Given the description of an element on the screen output the (x, y) to click on. 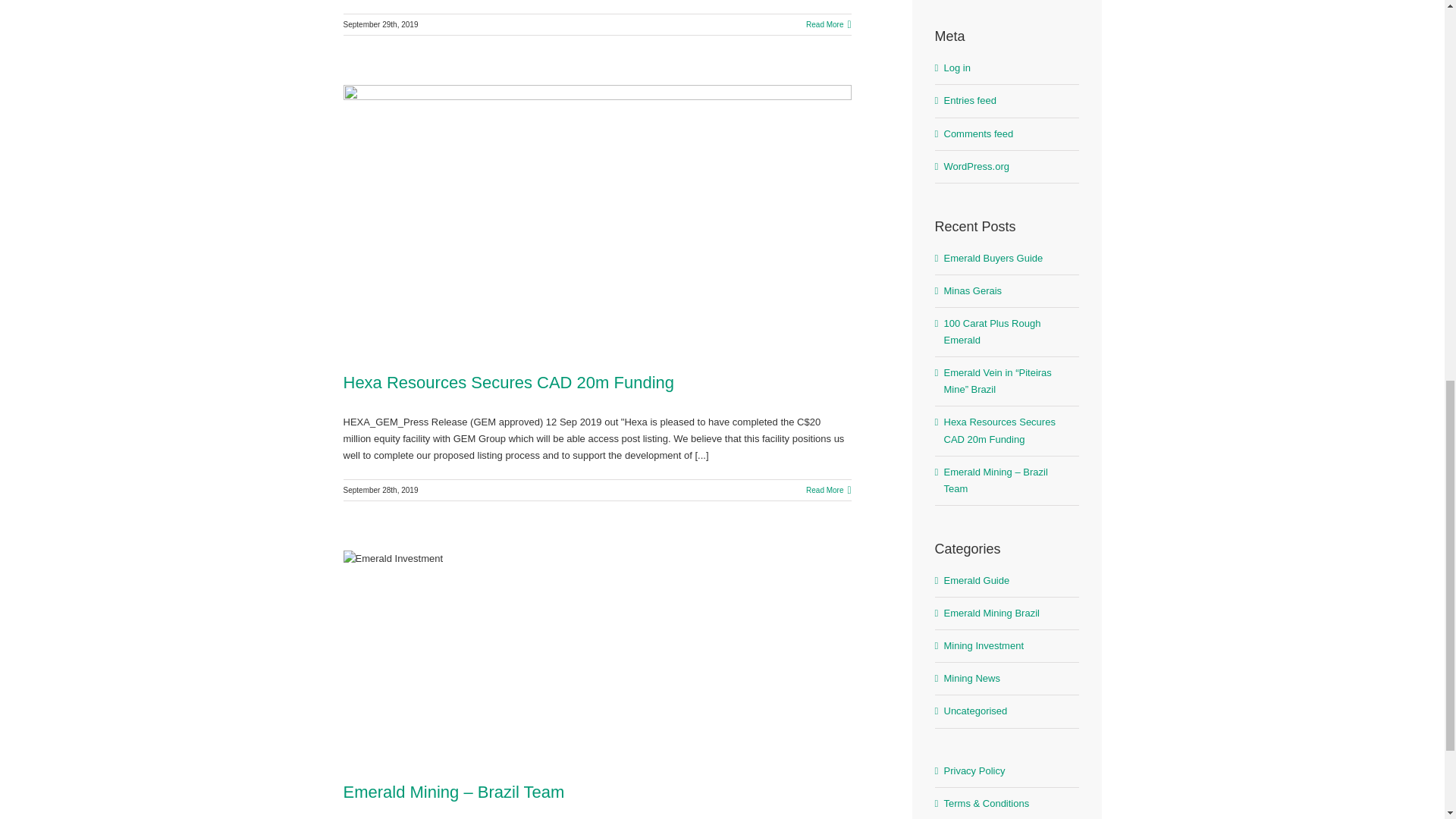
Read More (824, 24)
Read More (824, 490)
Hexa Resources Secures CAD 20m Funding (508, 382)
